Given the description of an element on the screen output the (x, y) to click on. 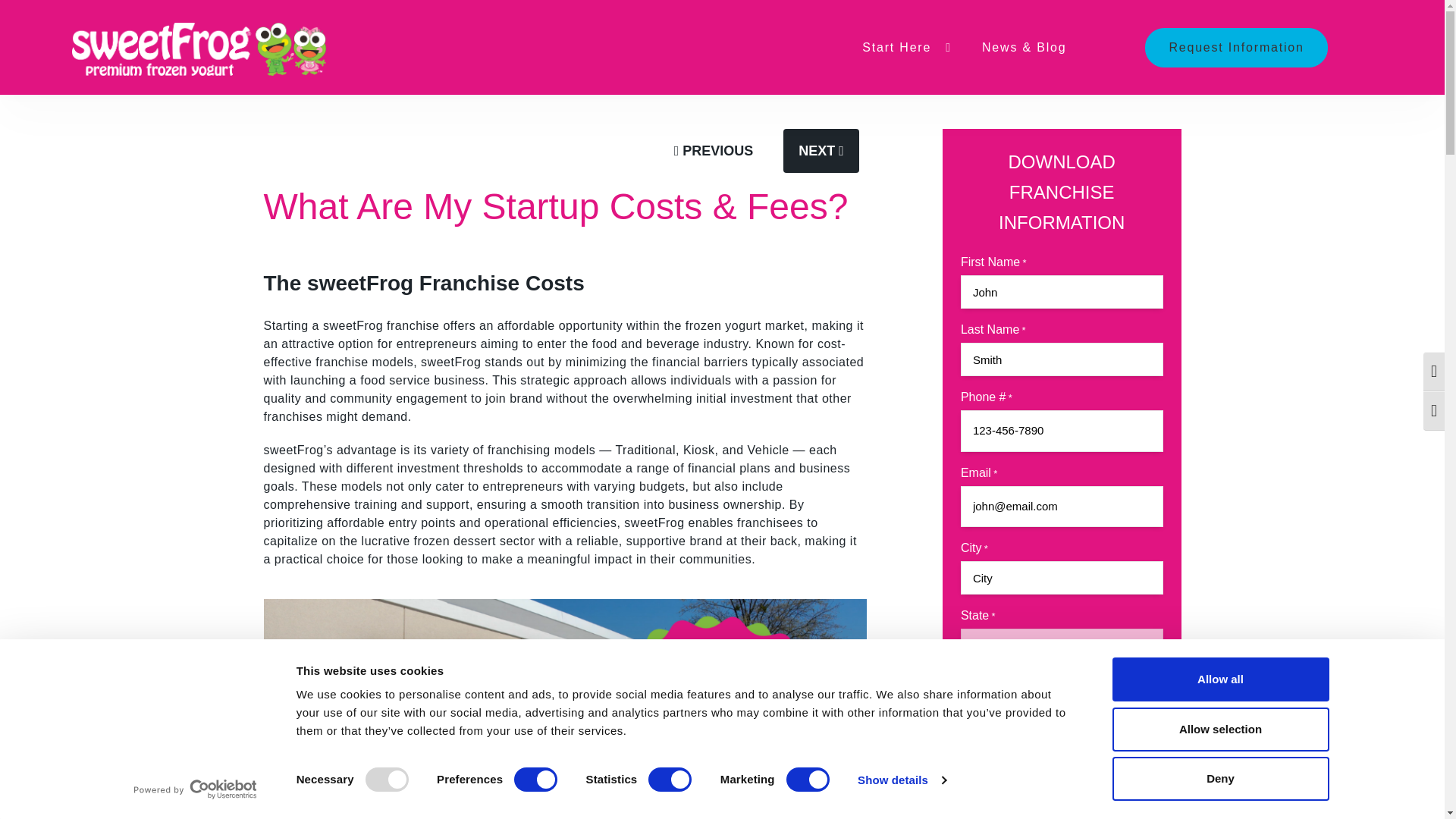
Show details (900, 780)
